Given the description of an element on the screen output the (x, y) to click on. 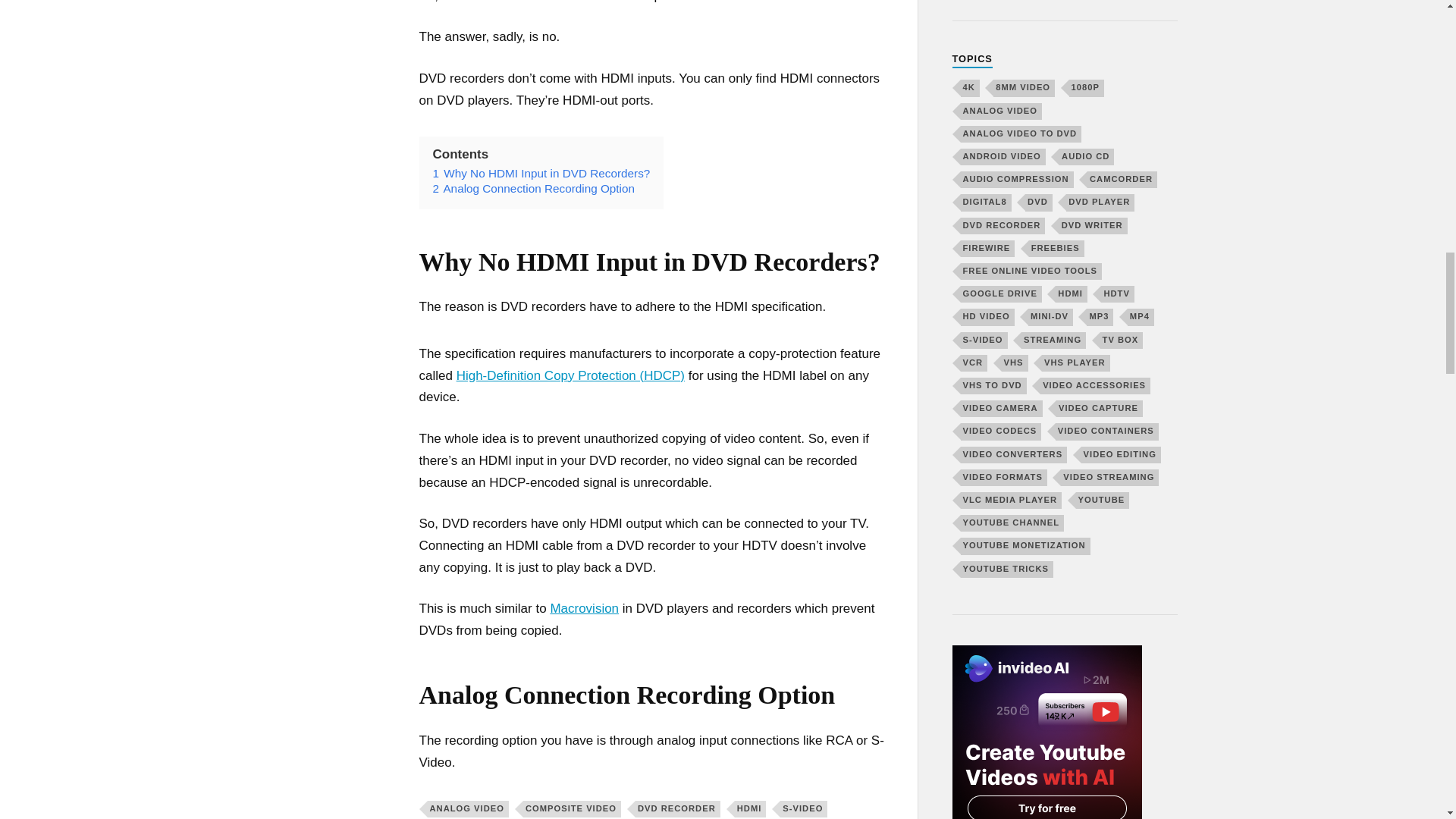
COMPOSITE VIDEO (571, 808)
HDMI (751, 808)
Macrovision (584, 608)
S-VIDEO (803, 808)
ANALOG VIDEO (468, 808)
1 Why No HDMI Input in DVD Recorders? (540, 173)
2 Analog Connection Recording Option (533, 187)
DVD RECORDER (677, 808)
